Given the description of an element on the screen output the (x, y) to click on. 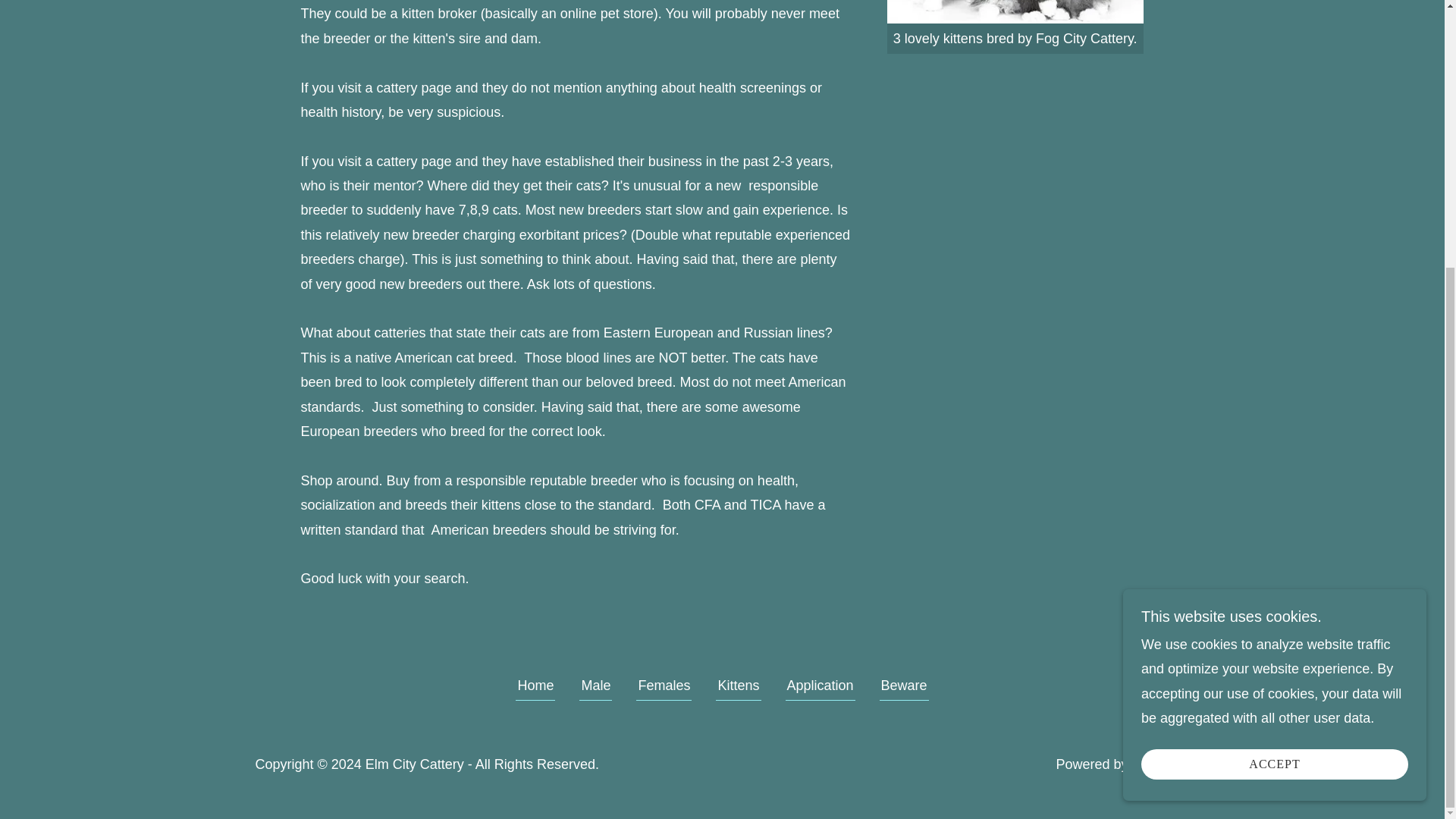
Females (663, 688)
Application (821, 688)
Beware (903, 688)
Home (534, 688)
GoDaddy (1160, 764)
Male (595, 688)
Kittens (738, 688)
ACCEPT (1274, 376)
